Given the description of an element on the screen output the (x, y) to click on. 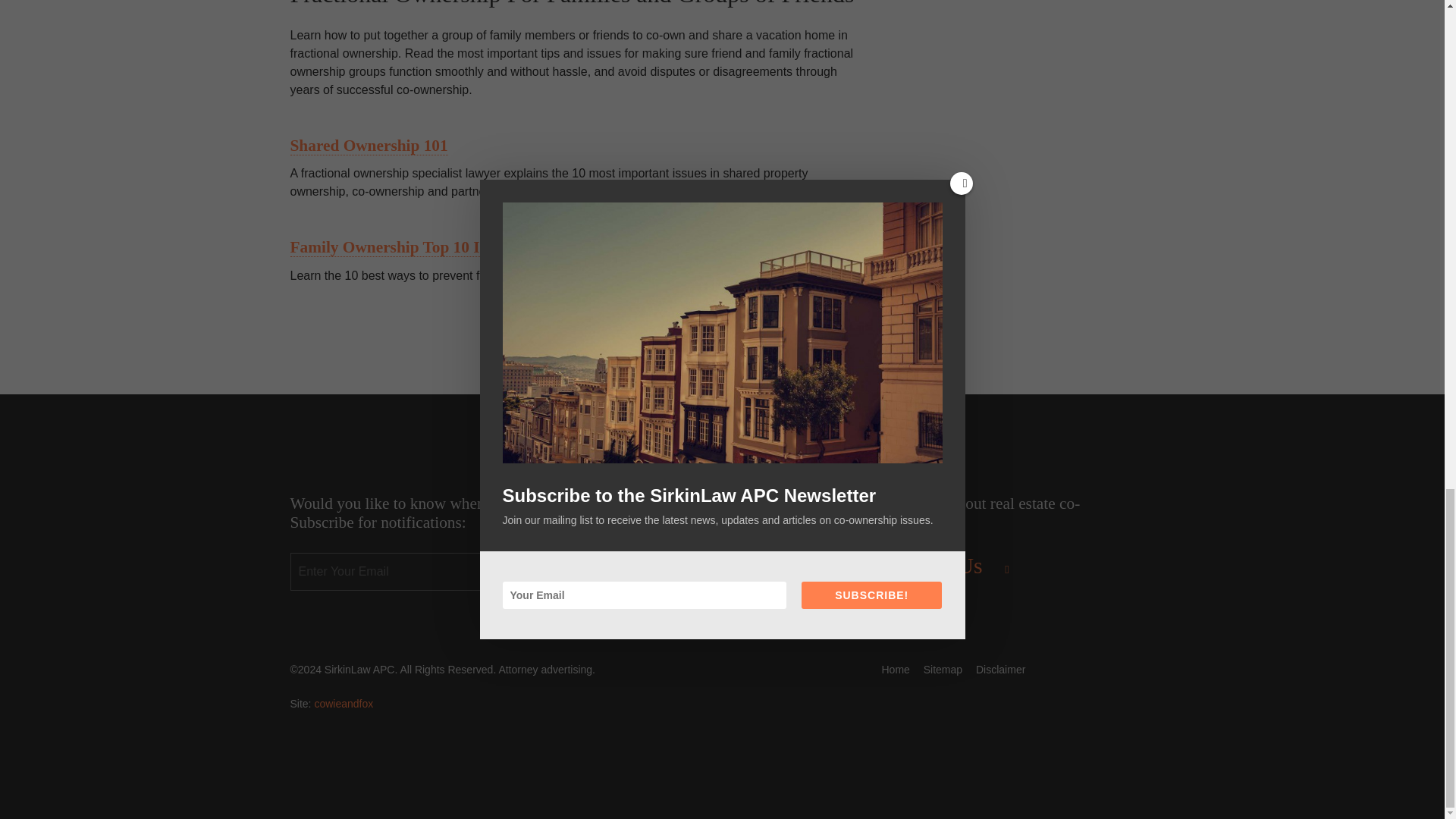
Shared Ownership 101 (367, 145)
Family Ownership Top 10 Issues (401, 247)
Subscribe (661, 571)
Vancouver advertising and websites (343, 703)
